Given the description of an element on the screen output the (x, y) to click on. 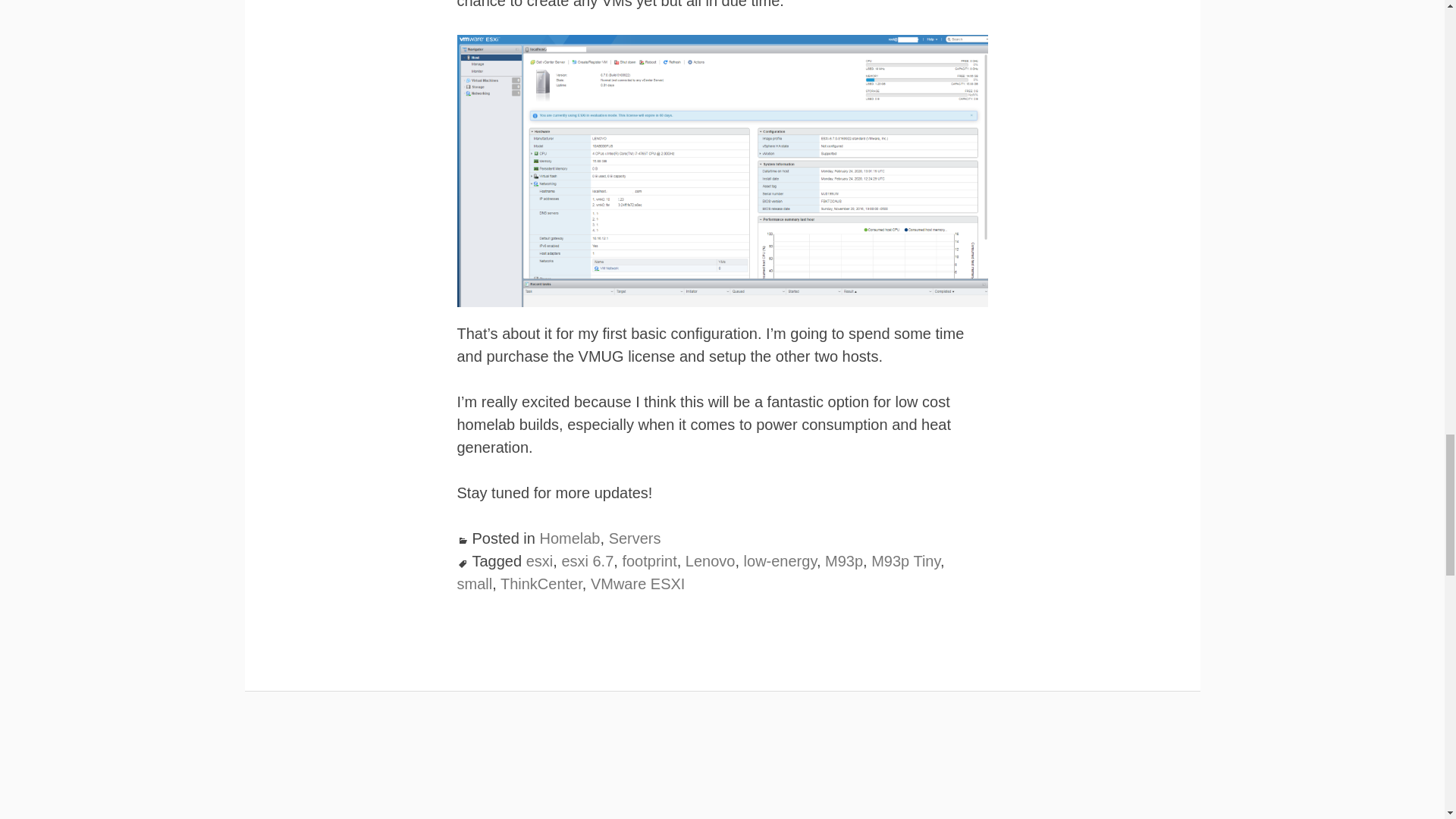
M93p Tiny (905, 560)
esxi (539, 560)
Servers (634, 538)
esxi 6.7 (586, 560)
ThinkCenter (541, 583)
small (474, 583)
footprint (649, 560)
Homelab (568, 538)
VMware ESXI (637, 583)
low-energy (780, 560)
